Given the description of an element on the screen output the (x, y) to click on. 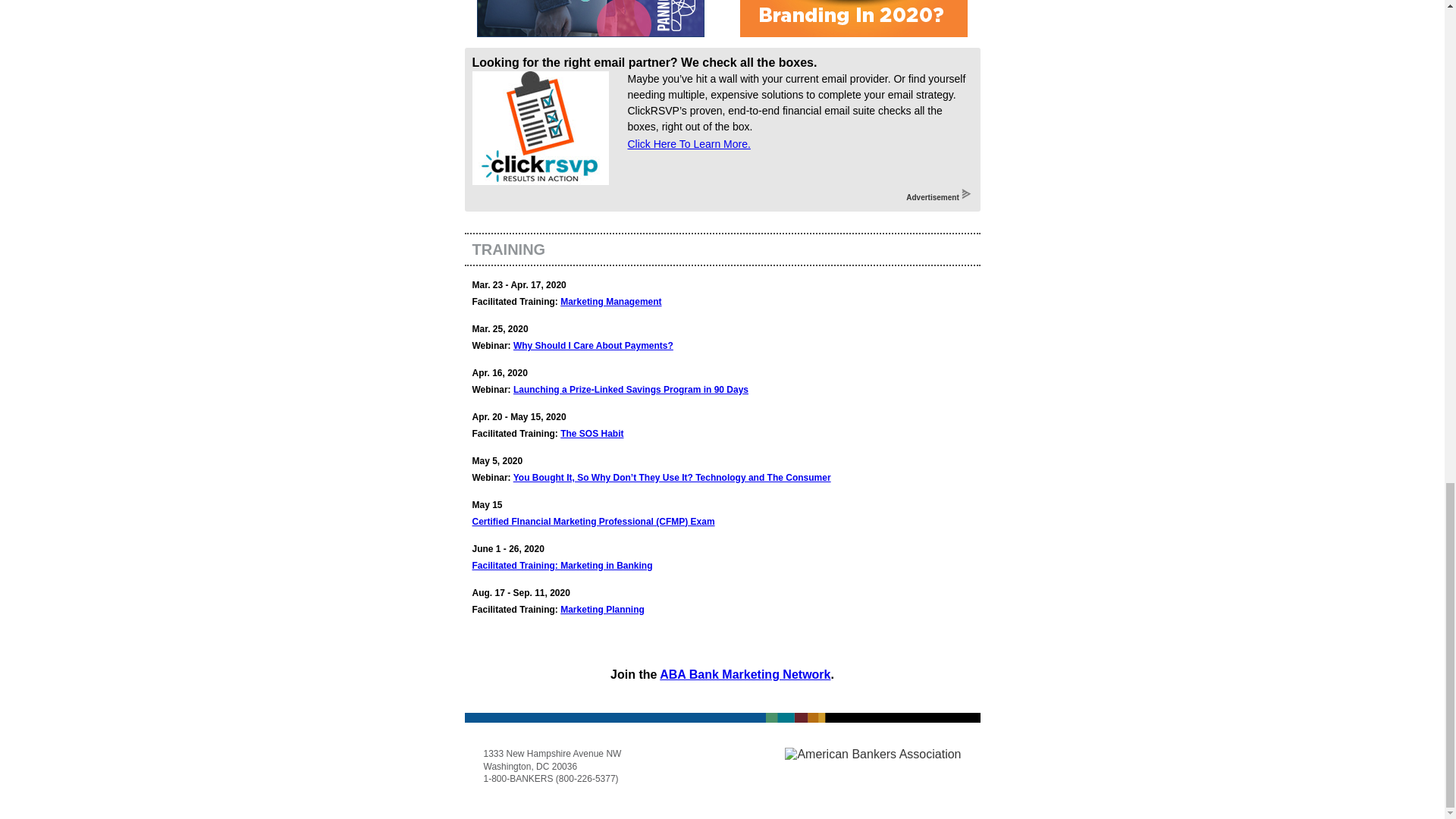
Marketing Management (610, 301)
Looking for the right email partner? We check all the boxes. (643, 62)
American Bankers Association (872, 754)
ABA Bank Marketing Network (744, 674)
Facilitated Training: Marketing in Banking (561, 565)
The SOS Habit (591, 433)
Launching a Prize-Linked Savings Program in 90 Days (630, 389)
Click Here To Learn More. (689, 143)
Why Should I Care About Payments? (592, 345)
Marketing Planning (602, 609)
